Given the description of an element on the screen output the (x, y) to click on. 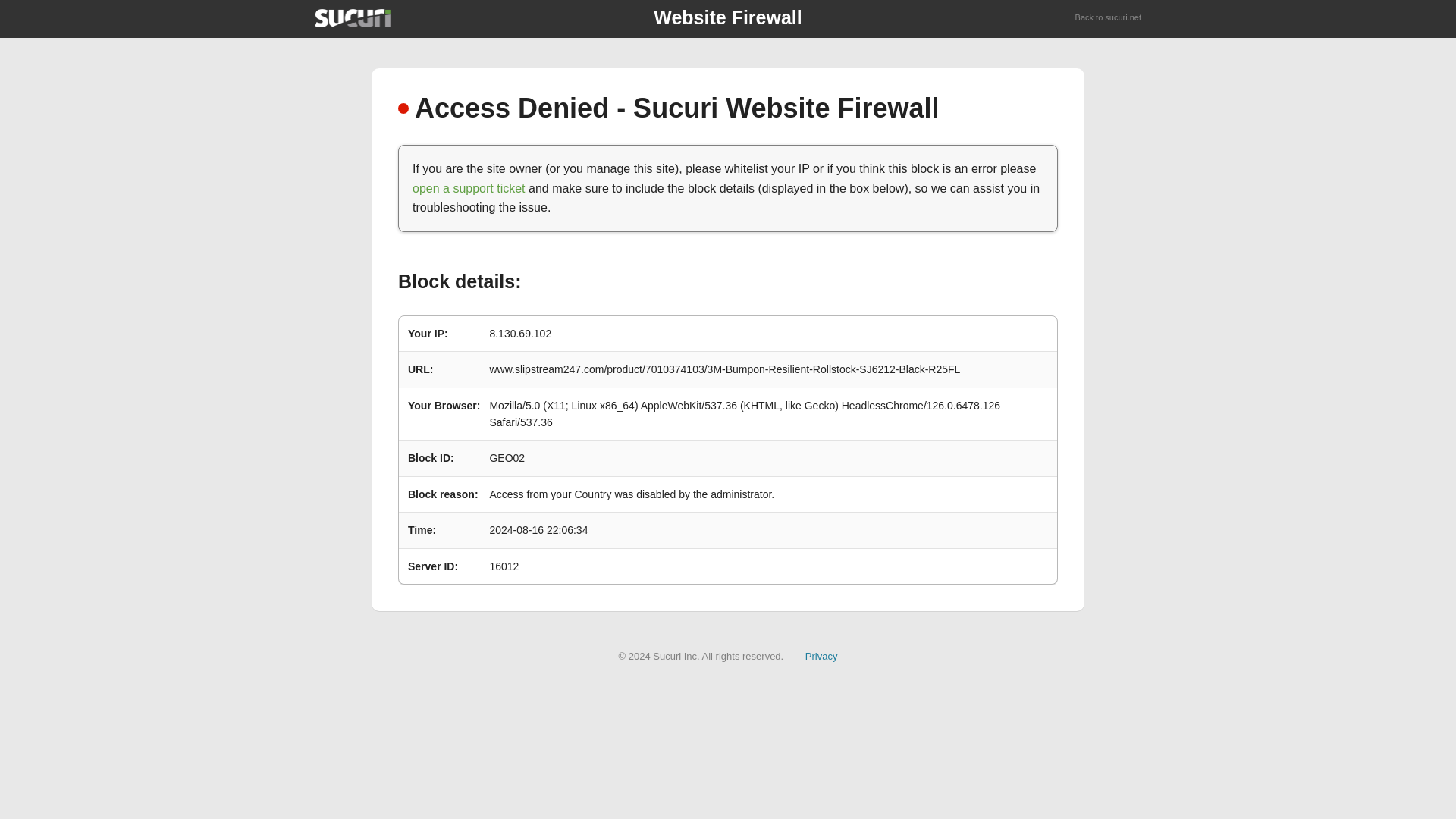
open a support ticket (468, 187)
Privacy (821, 655)
Back to sucuri.net (1108, 18)
